Given the description of an element on the screen output the (x, y) to click on. 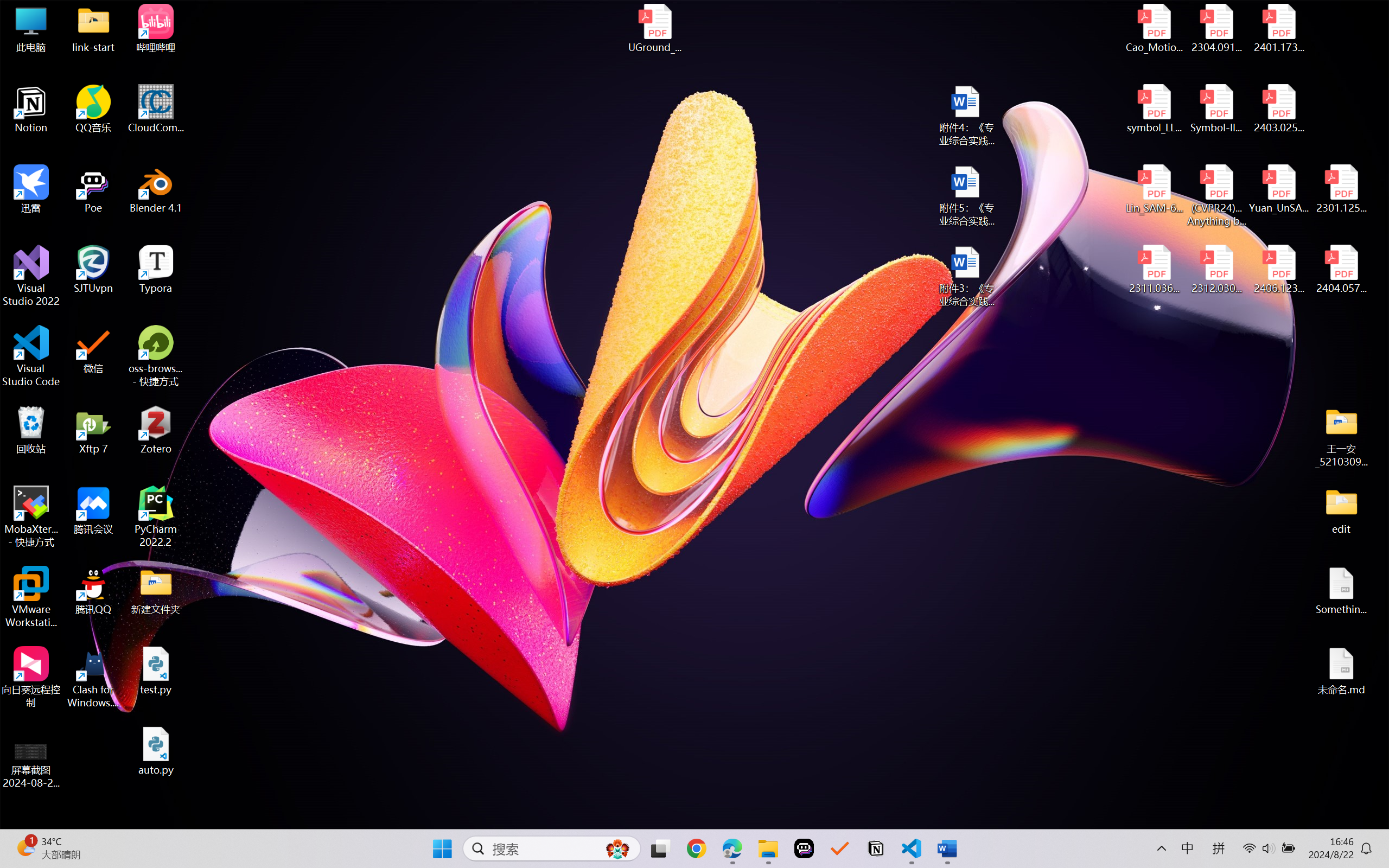
SJTUvpn (93, 269)
CloudCompare (156, 109)
